Given the description of an element on the screen output the (x, y) to click on. 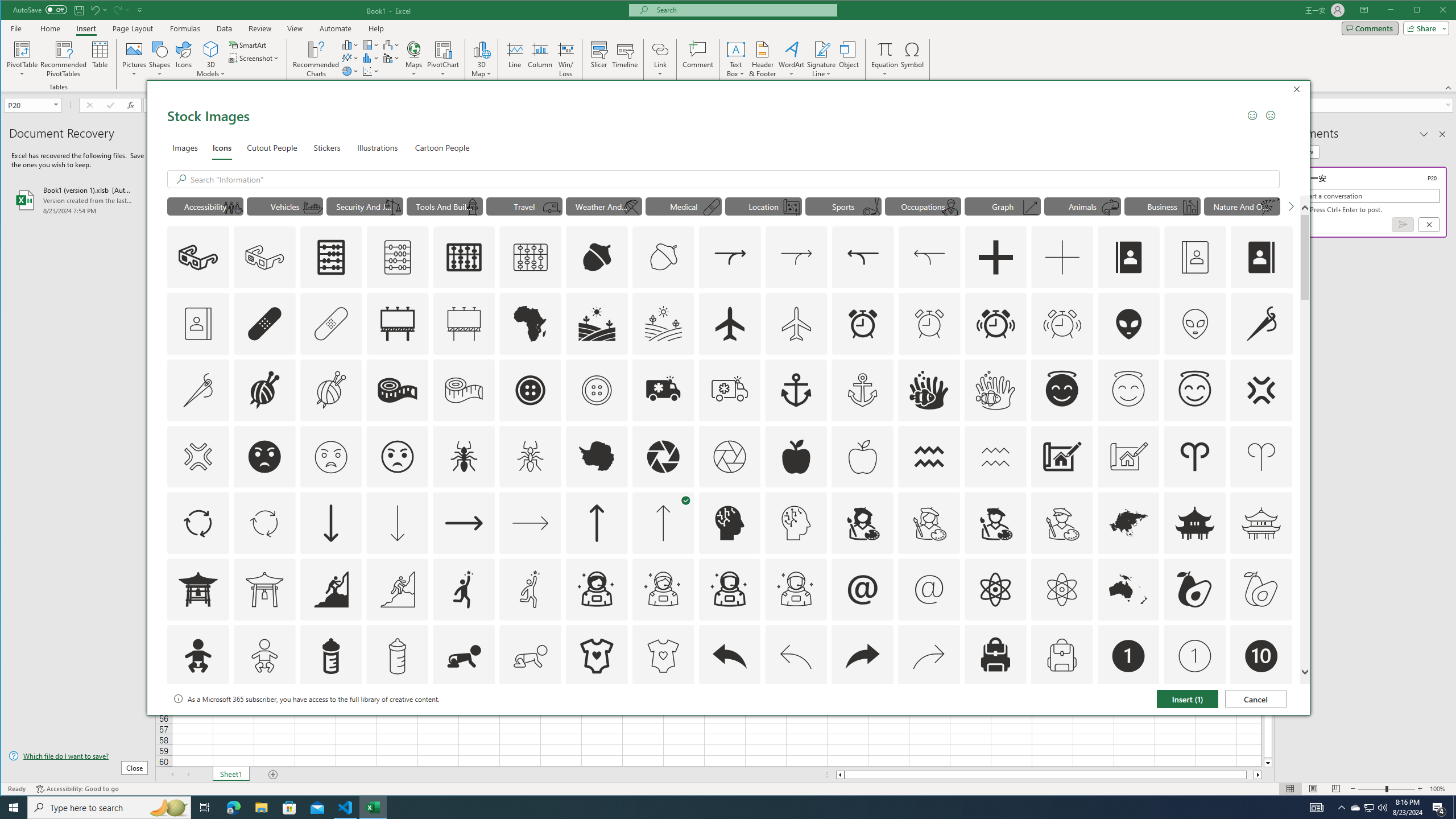
Icons (221, 147)
AutomationID: Icons_AlarmClock_M (928, 323)
AutomationID: Icons_3dGlasses (197, 256)
AutomationID: Icons_AsianTemple1 (197, 589)
Illustrations (377, 147)
AutomationID: Icons_BabyBottle (330, 655)
AutomationID: Icons_Avocado (1194, 589)
"Occupations" Icons. (922, 206)
